Given the description of an element on the screen output the (x, y) to click on. 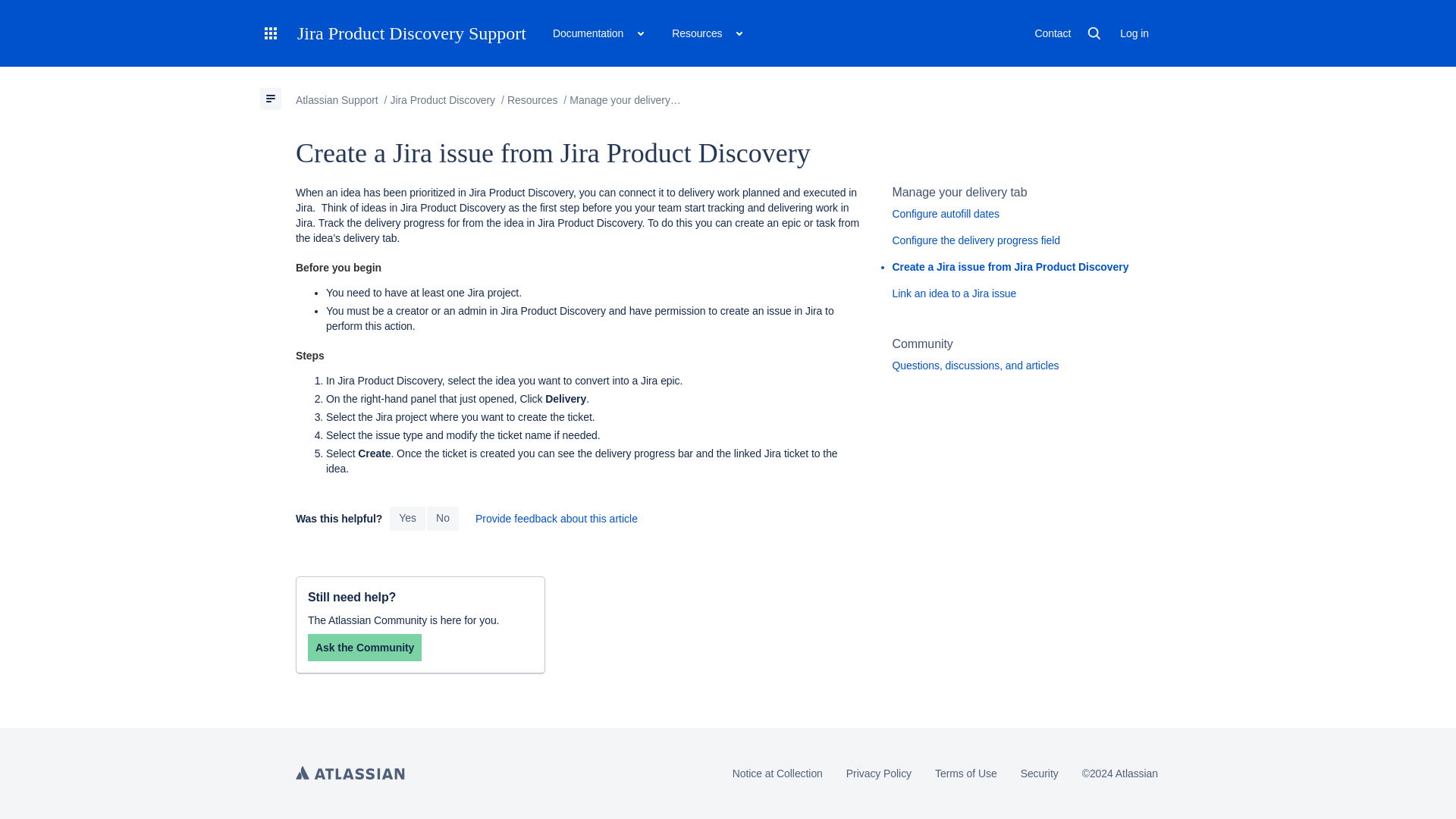
Log in (1134, 33)
Jira Product Discovery Support (411, 33)
Contact (1052, 33)
